Given the description of an element on the screen output the (x, y) to click on. 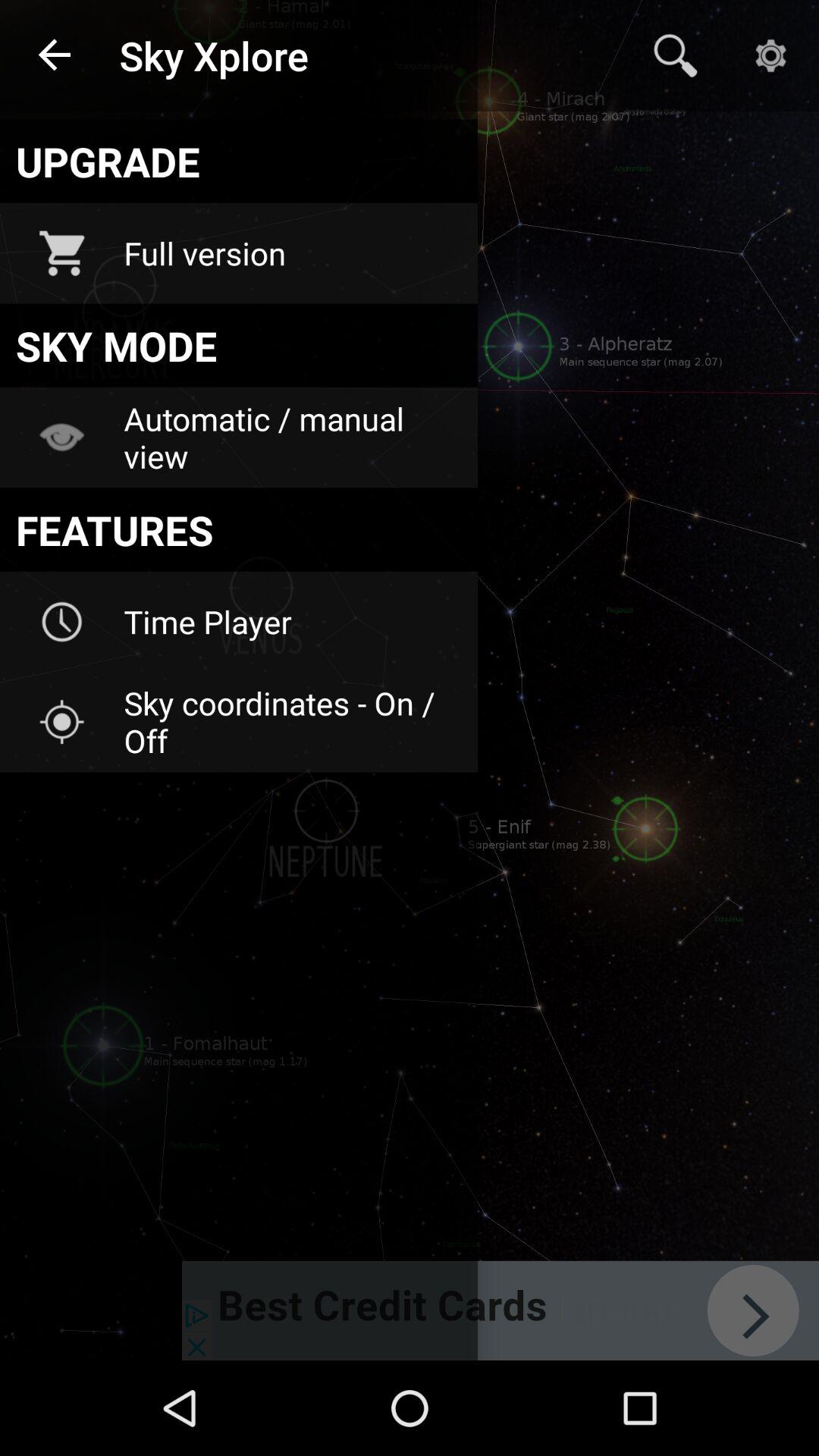
tap the icon below upgrade icon (290, 253)
